Given the description of an element on the screen output the (x, y) to click on. 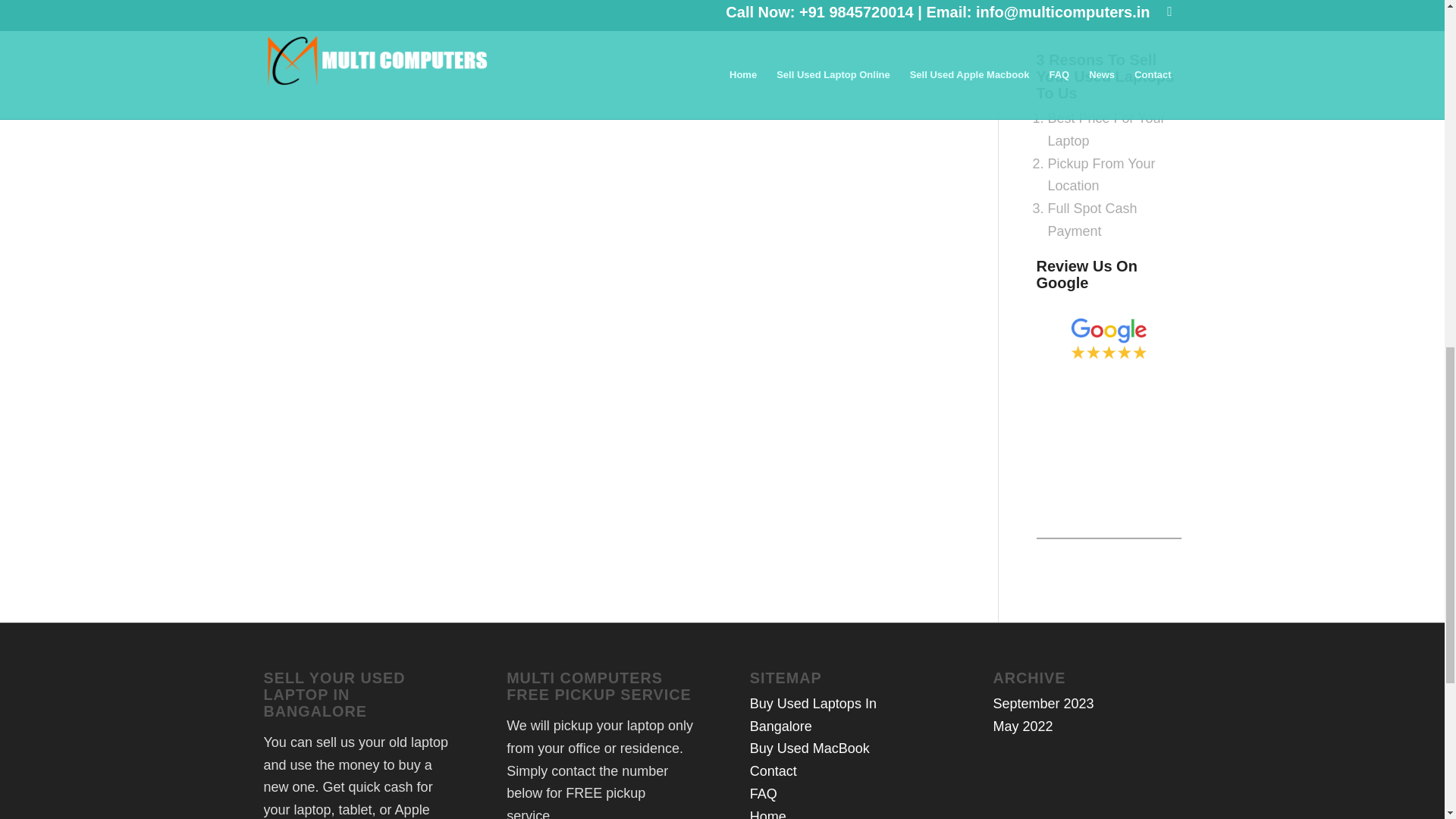
FAQ (763, 793)
May 2022 (1022, 726)
Buy Used Laptops In Bangalore (812, 714)
Send Info (1073, 16)
Send Info (1073, 16)
September 2023 (1042, 703)
Contact (772, 770)
Buy Used MacBook (809, 748)
Home (767, 813)
